Given the description of an element on the screen output the (x, y) to click on. 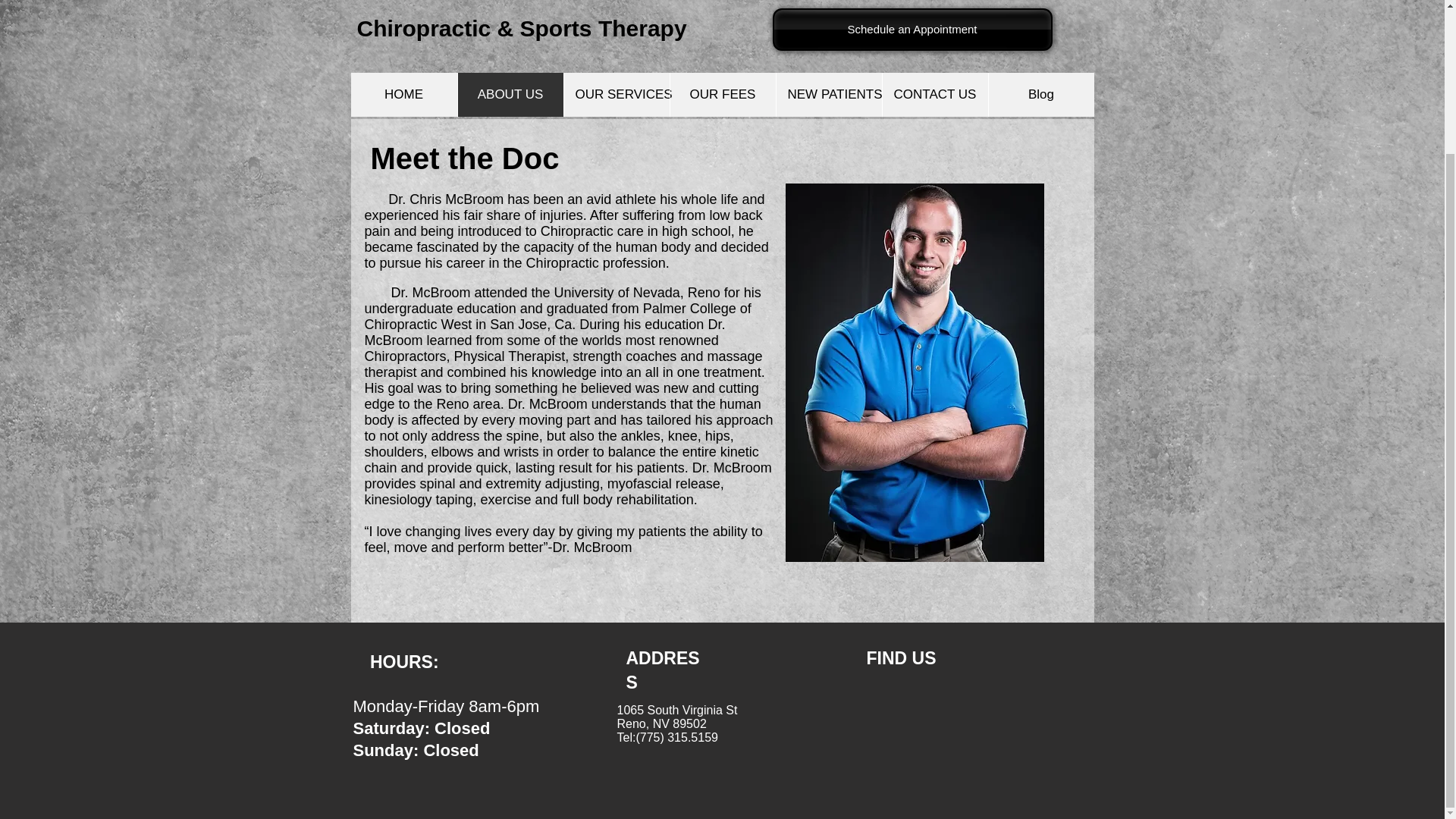
Blog (1040, 94)
NEW PATIENTS (827, 94)
OUR FEES (721, 94)
Schedule an Appointment (911, 29)
ABOUT US (509, 94)
HOME (403, 94)
OUR SERVICES (615, 94)
CONTACT US (933, 94)
